Given the description of an element on the screen output the (x, y) to click on. 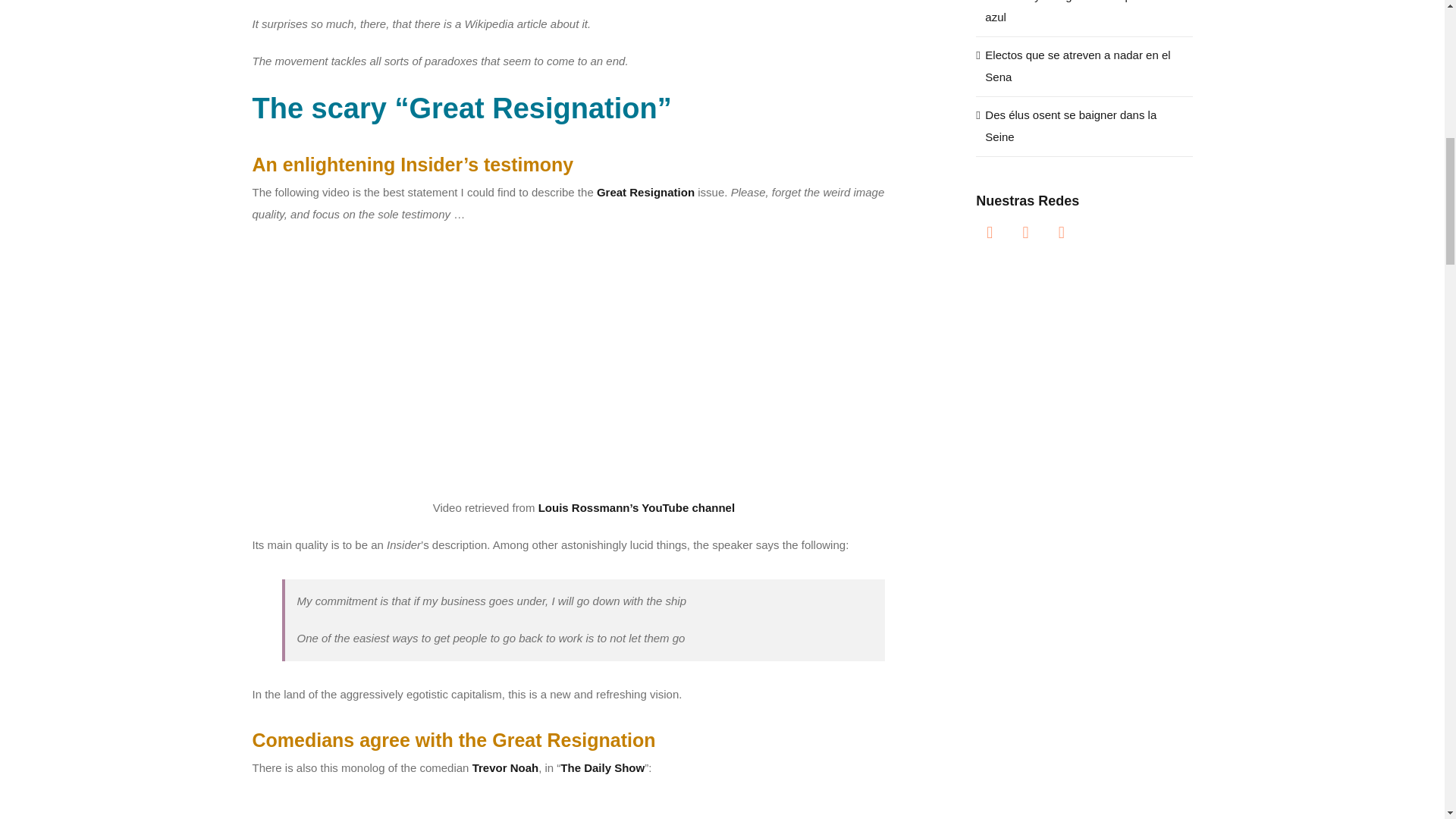
Great Resignation (645, 192)
YouTube video player 1 (583, 625)
The Daily Show (602, 767)
Trevor Noah (504, 767)
